Given the description of an element on the screen output the (x, y) to click on. 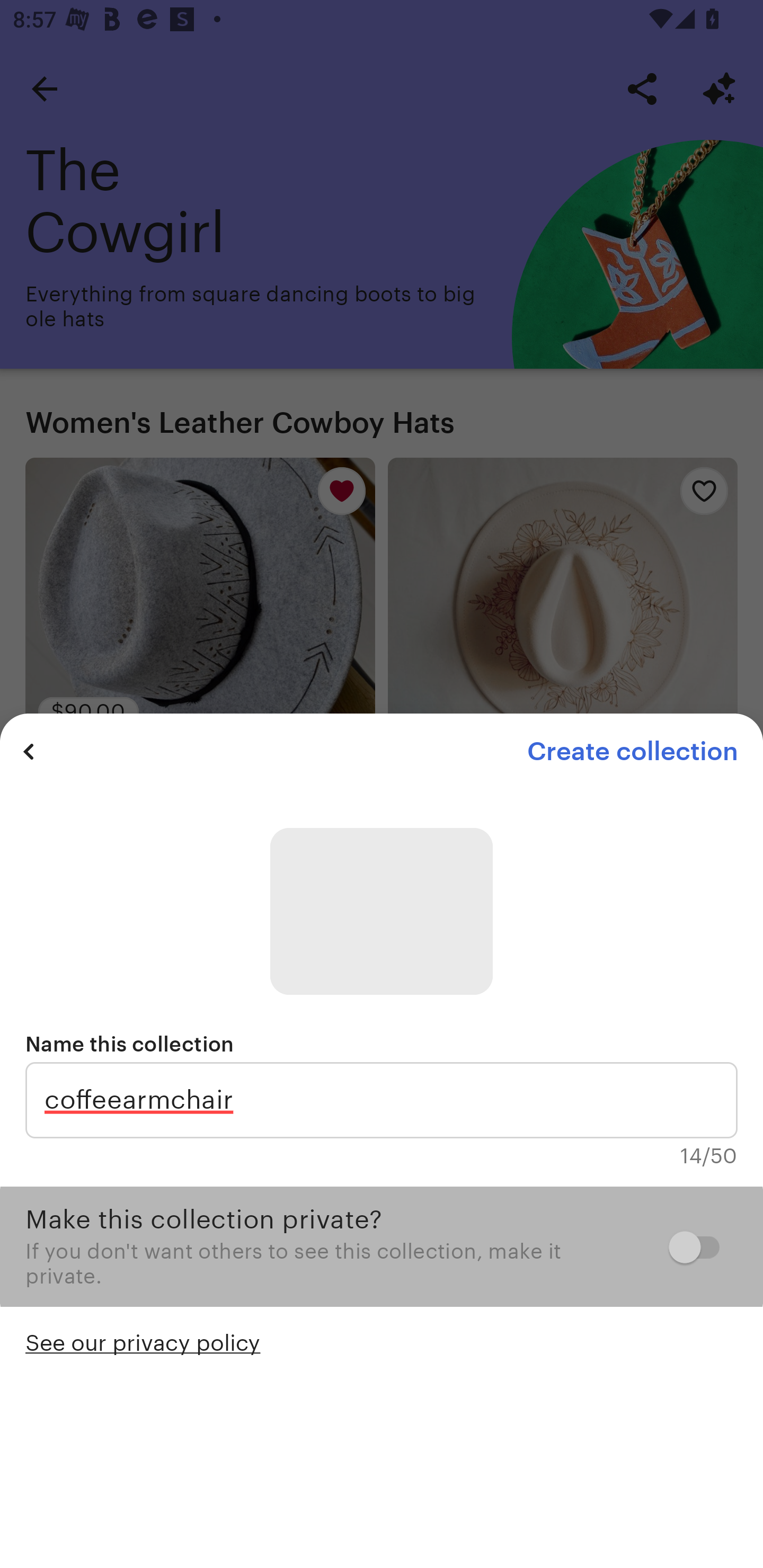
Previous (28, 751)
Create collection (632, 751)
coffeearmchair (381, 1099)
See our privacy policy (142, 1341)
